Given the description of an element on the screen output the (x, y) to click on. 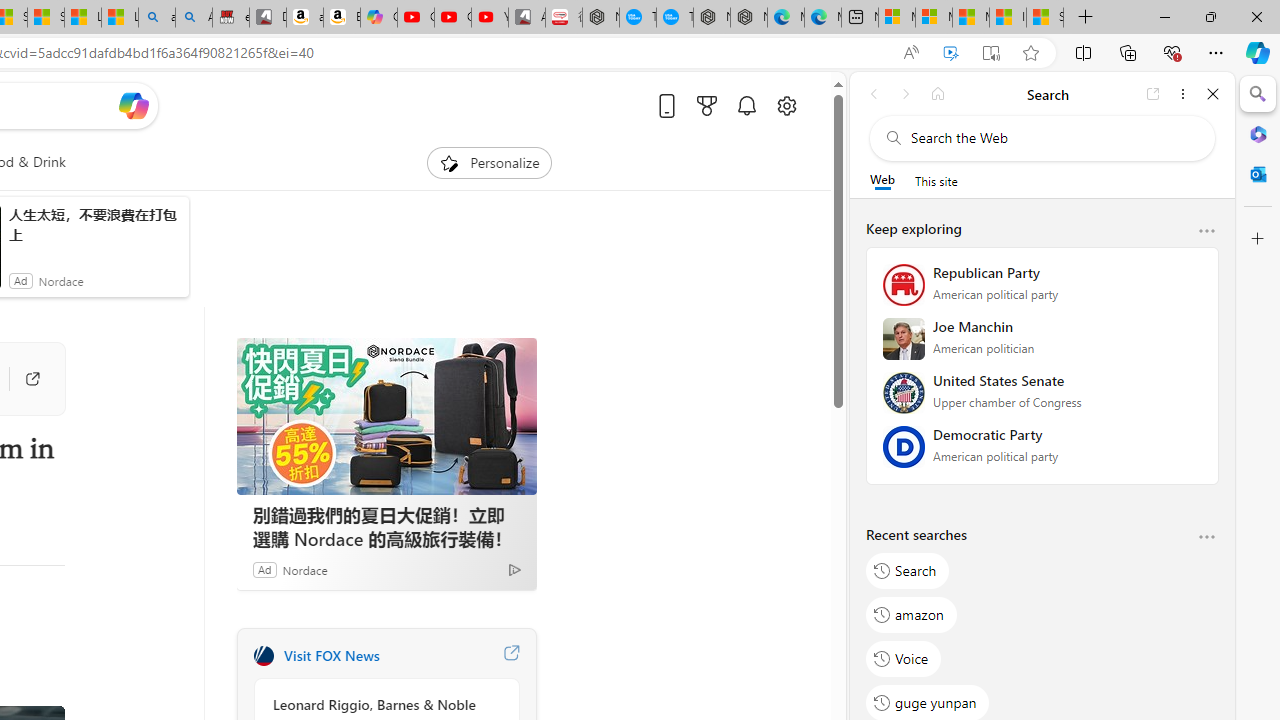
Microsoft account | Privacy (934, 17)
Gloom - YouTube (453, 17)
Notifications (746, 105)
Voice (904, 658)
Enhance video (950, 53)
Visit FOX News website (511, 655)
